Given the description of an element on the screen output the (x, y) to click on. 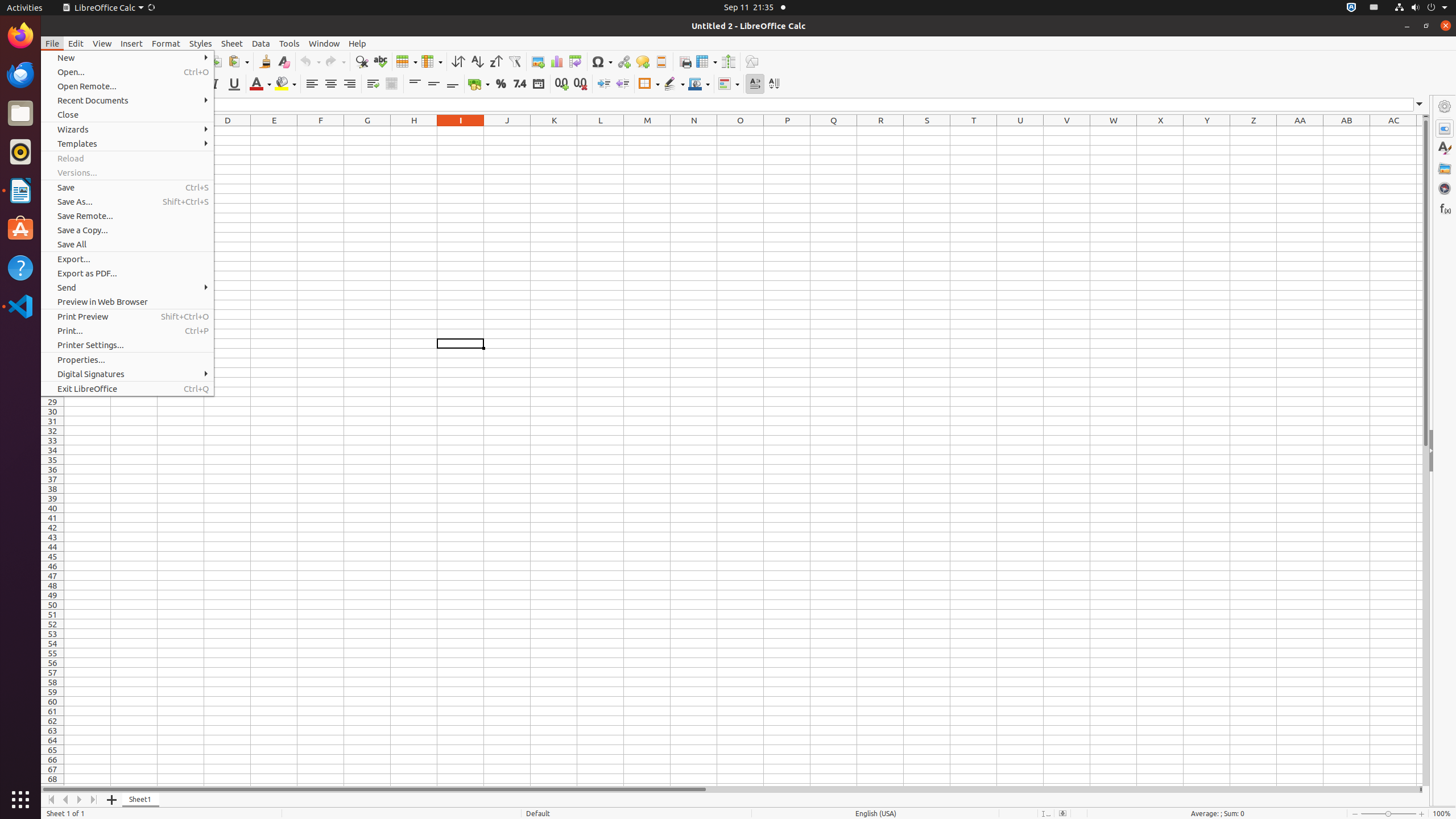
Activities Element type: label (24, 7)
Border Color Element type: push-button (698, 83)
Redo Element type: push-button (334, 61)
Spelling Element type: push-button (379, 61)
View Element type: menu (102, 43)
